Given the description of an element on the screen output the (x, y) to click on. 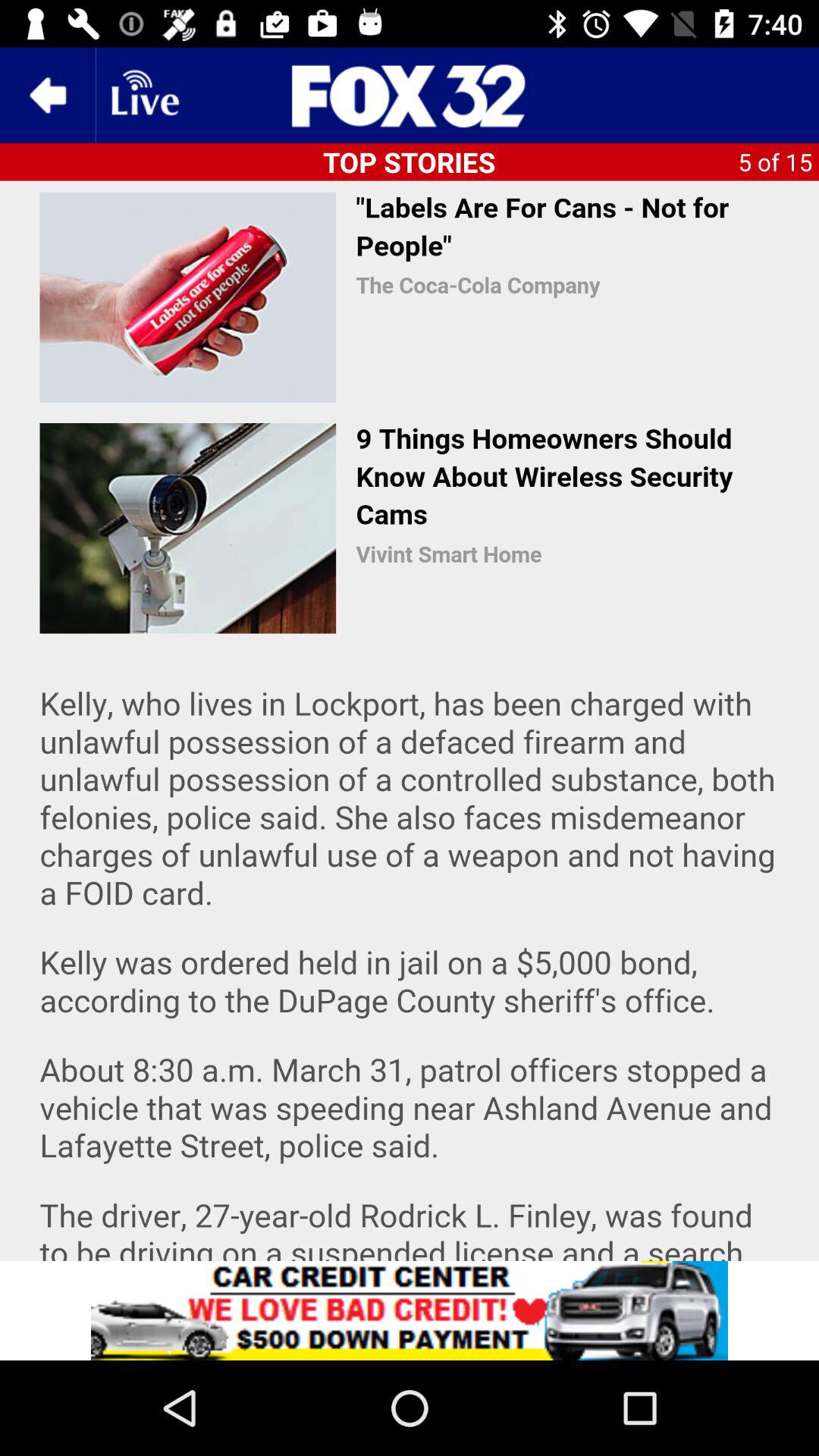
page content (409, 720)
